Given the description of an element on the screen output the (x, y) to click on. 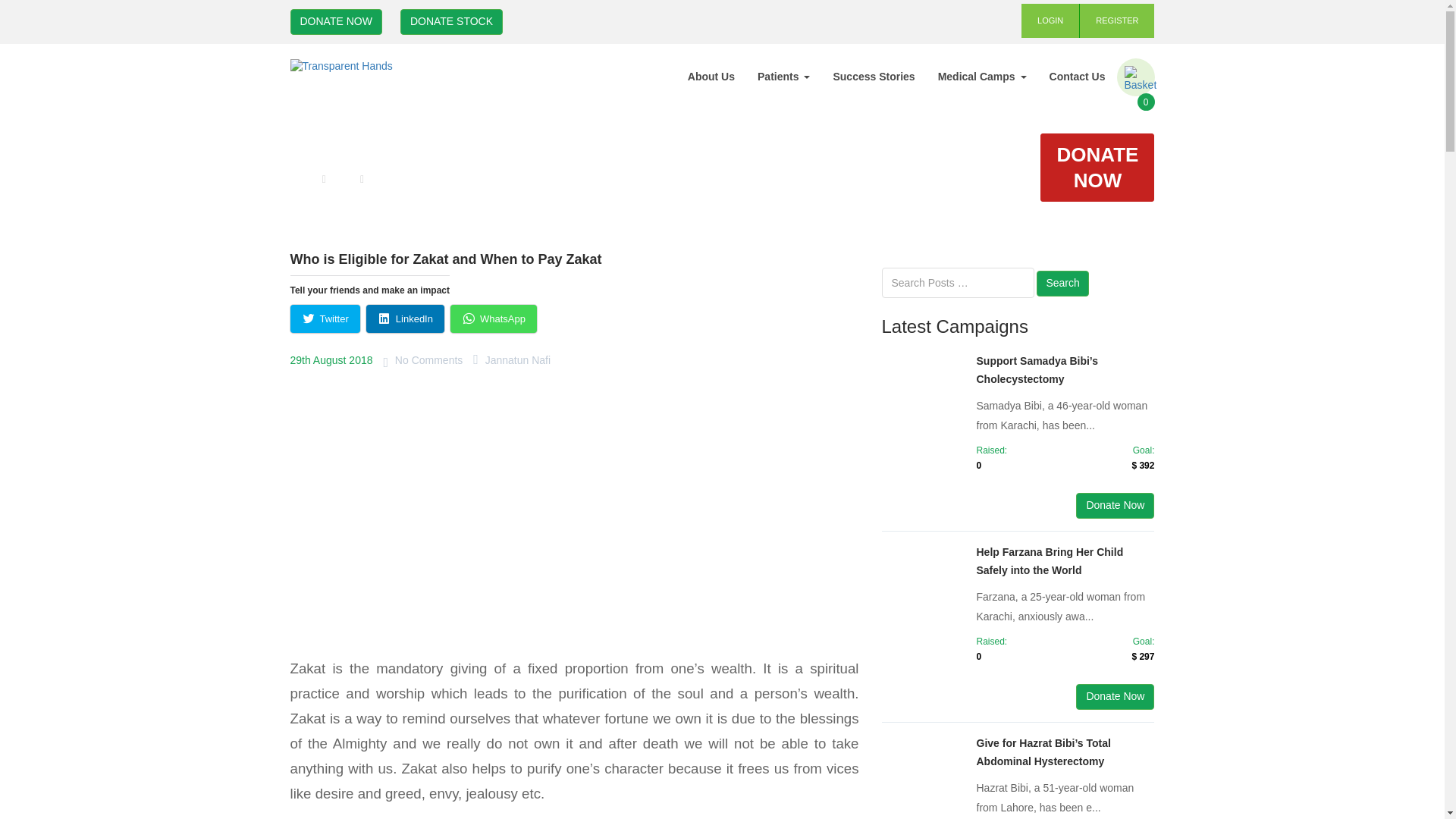
Jannatun Nafi (517, 359)
Click to share on LinkedIn (405, 318)
Click to share on Twitter (324, 318)
DONATE STOCK (451, 22)
LinkedIn (405, 318)
No Comments (428, 359)
Zakat (343, 178)
DONATE NOW (1097, 167)
Medical Camps (982, 76)
Contact Us (1077, 76)
